Given the description of an element on the screen output the (x, y) to click on. 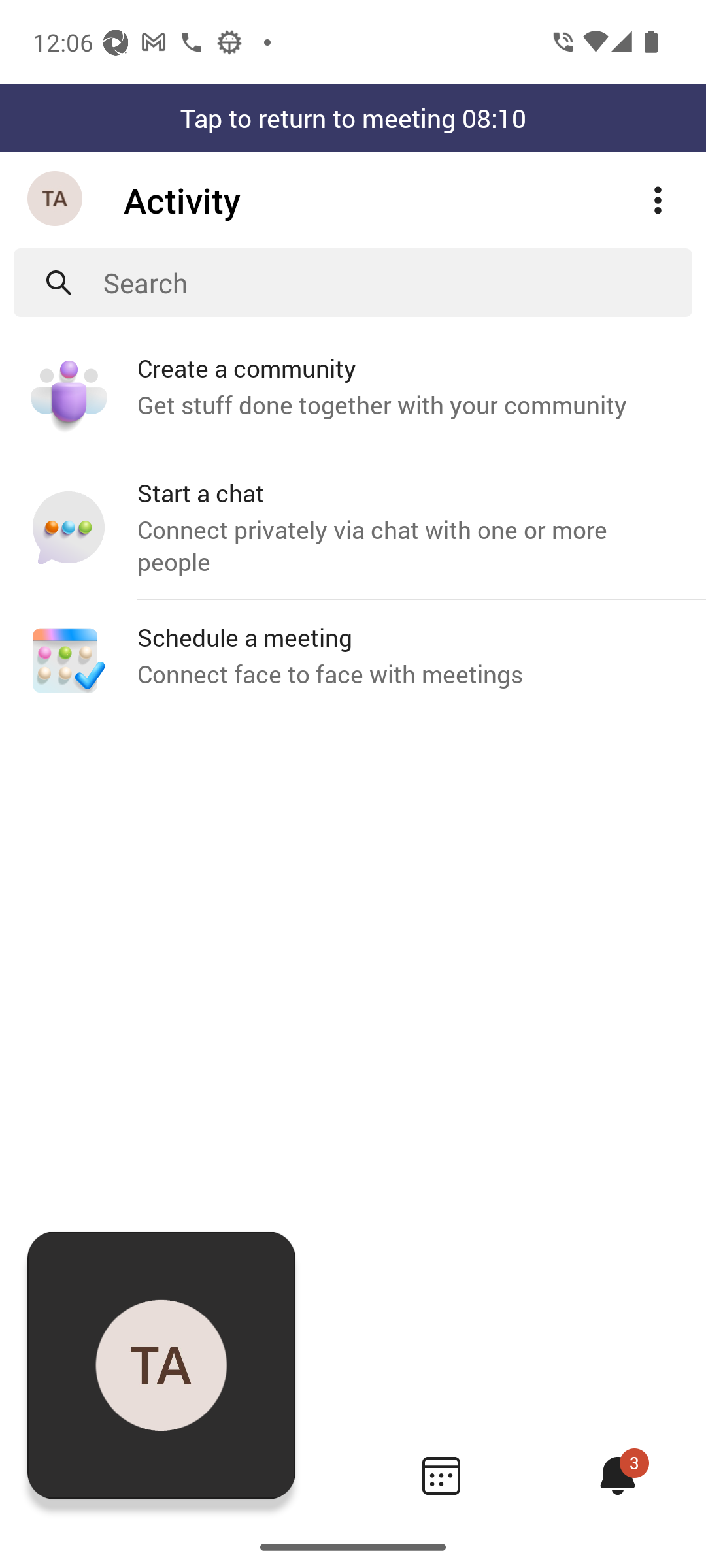
Tap to return to meeting 08:10 (353, 117)
More options (657, 199)
Navigation (56, 199)
Search (397, 281)
Calendar tab,3 of 4, not selected (441, 1475)
Activity tab, 4 of 4, 3 new 3 (617, 1475)
